Given the description of an element on the screen output the (x, y) to click on. 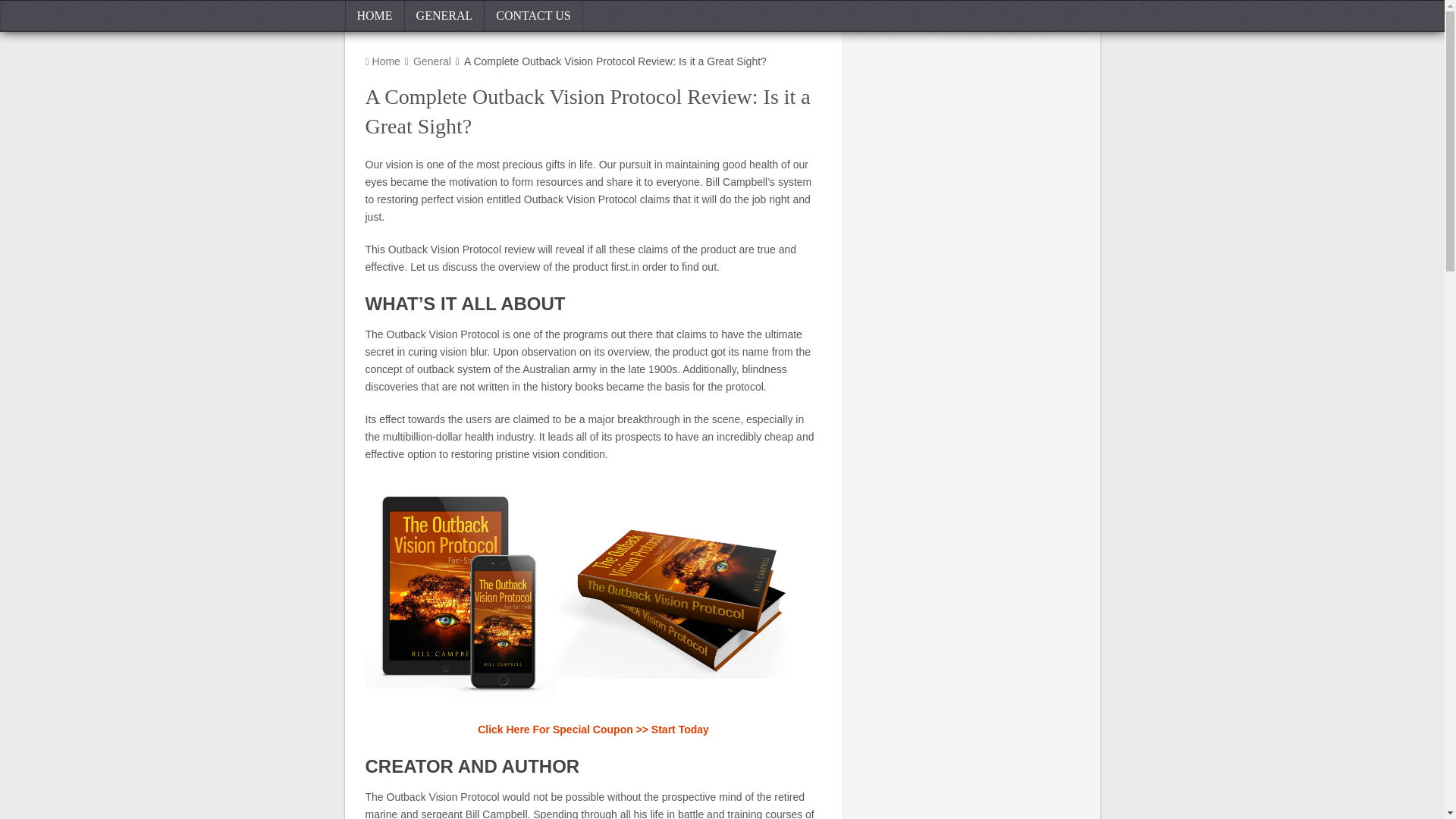
General (432, 61)
HOME (373, 15)
CONTACT US (533, 15)
GENERAL (444, 15)
Home (382, 61)
